Given the description of an element on the screen output the (x, y) to click on. 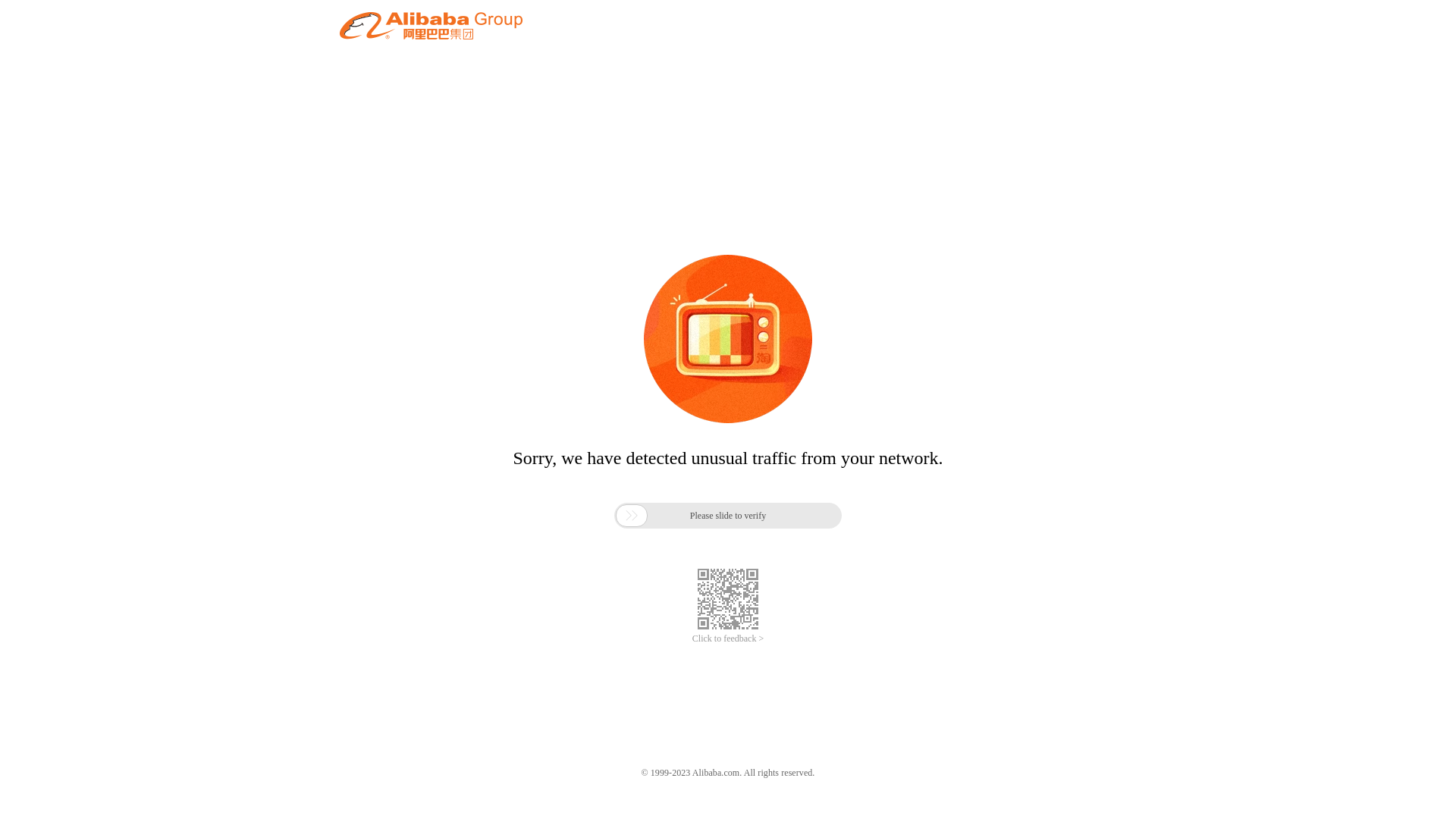
Click to feedback > Element type: text (727, 638)
